Given the description of an element on the screen output the (x, y) to click on. 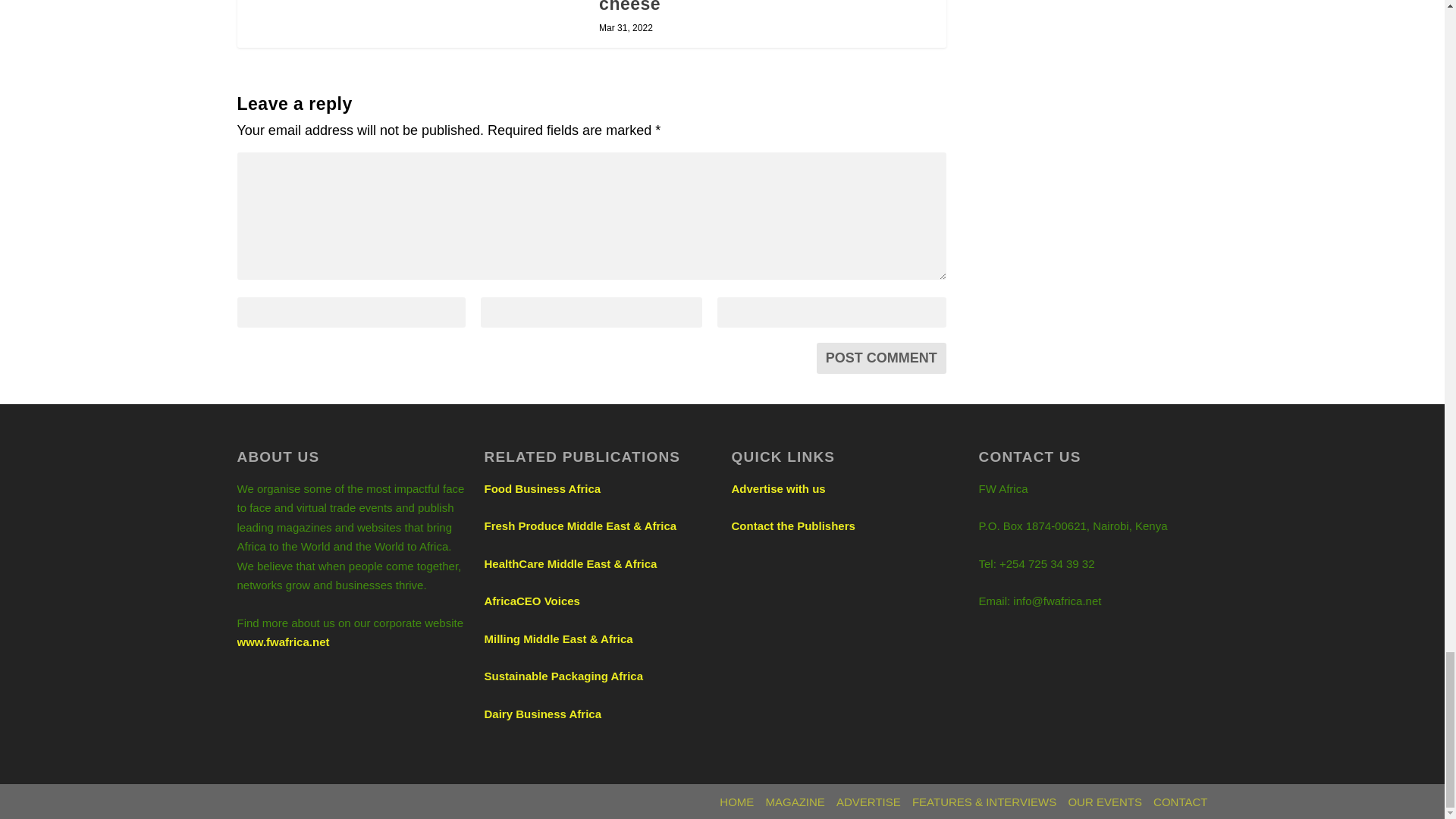
Post Comment (881, 358)
